Given the description of an element on the screen output the (x, y) to click on. 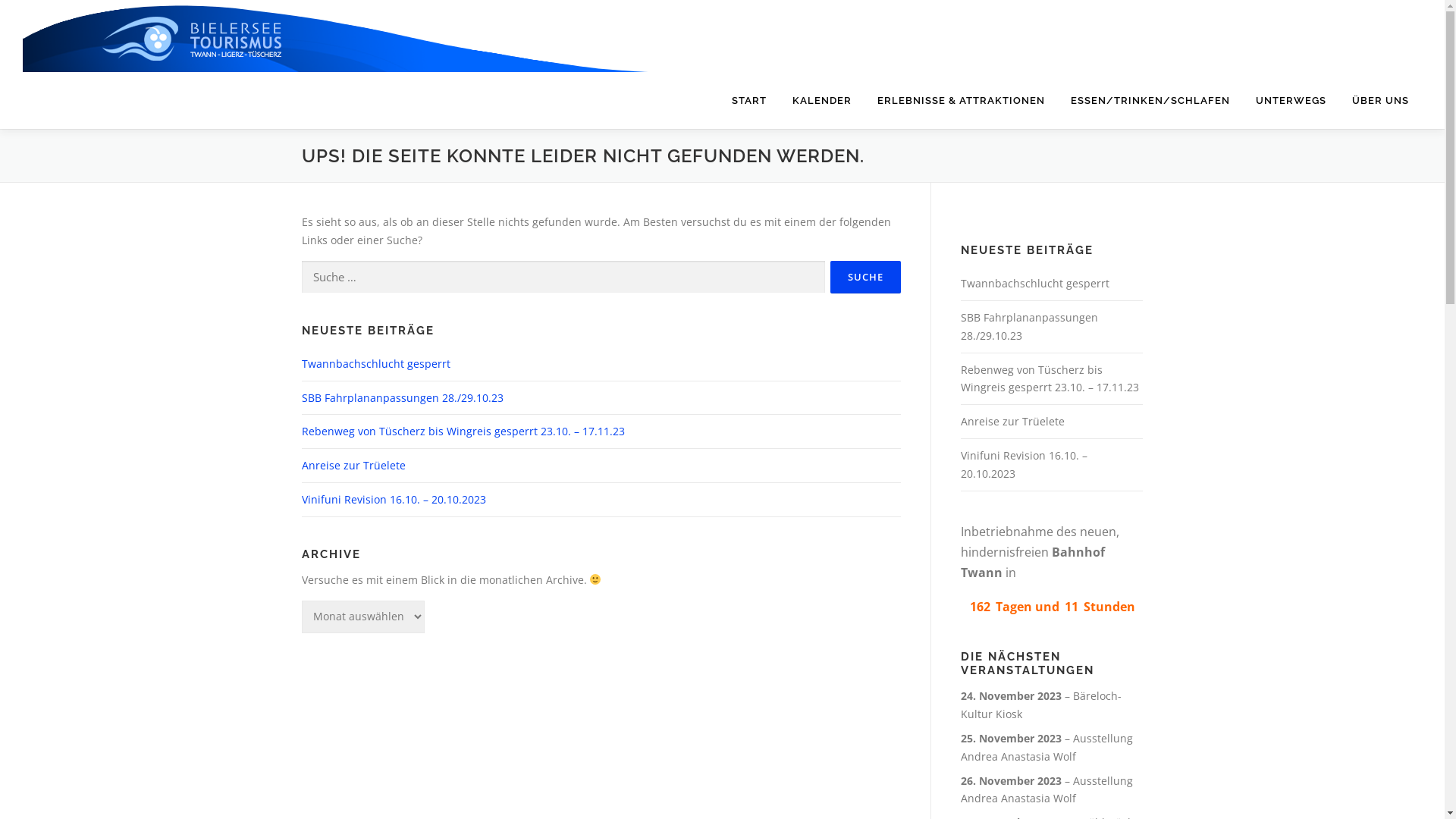
Twannbachschlucht gesperrt Element type: text (1034, 283)
ERLEBNISSE & ATTRAKTIONEN Element type: text (960, 100)
ESSEN/TRINKEN/SCHLAFEN Element type: text (1149, 100)
Suche Element type: text (864, 276)
KALENDER Element type: text (821, 100)
SBB Fahrplananpassungen 28./29.10.23 Element type: text (1028, 326)
UNTERWEGS Element type: text (1290, 100)
START Element type: text (748, 100)
Ausstellung Andrea Anastasia Wolf Element type: text (1046, 789)
Twannbachschlucht gesperrt Element type: text (375, 363)
Ausstellung Andrea Anastasia Wolf Element type: text (1046, 747)
SBB Fahrplananpassungen 28./29.10.23 Element type: text (402, 397)
